Given the description of an element on the screen output the (x, y) to click on. 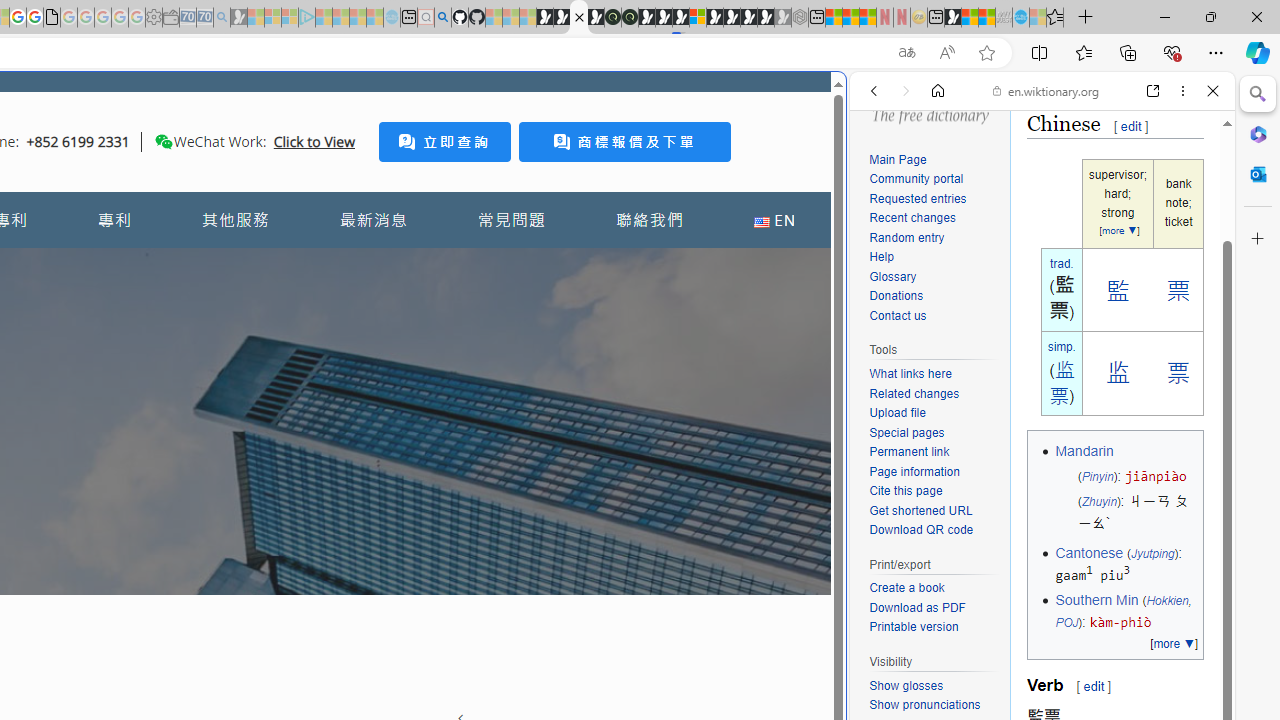
Donations (934, 296)
Close split screen (844, 102)
Permanent link (934, 452)
Special pages (934, 433)
Jyutping (1152, 552)
Upload file (897, 413)
Main Page (897, 159)
